Given the description of an element on the screen output the (x, y) to click on. 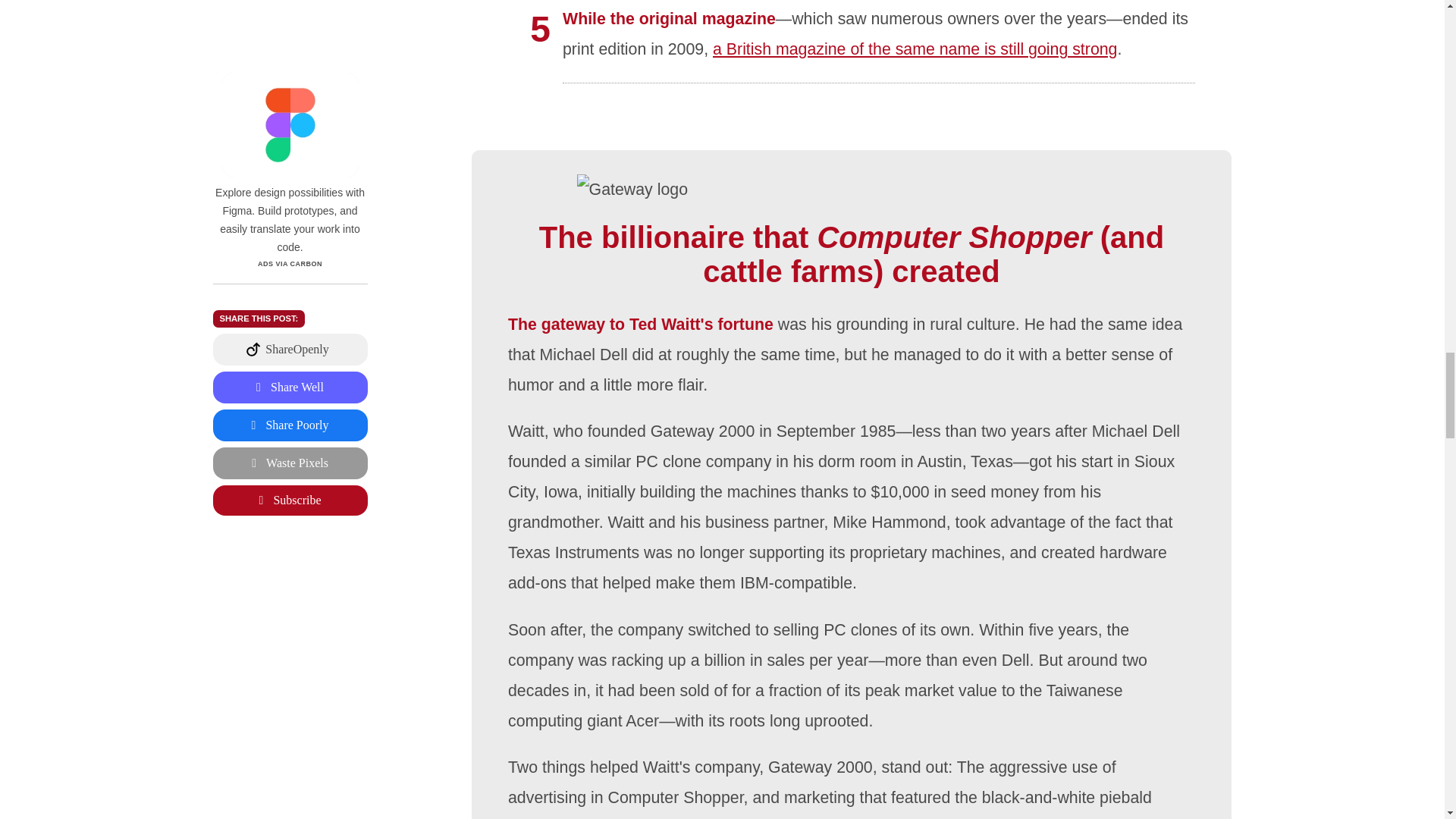
a British magazine of the same name is still going strong (914, 49)
